Given the description of an element on the screen output the (x, y) to click on. 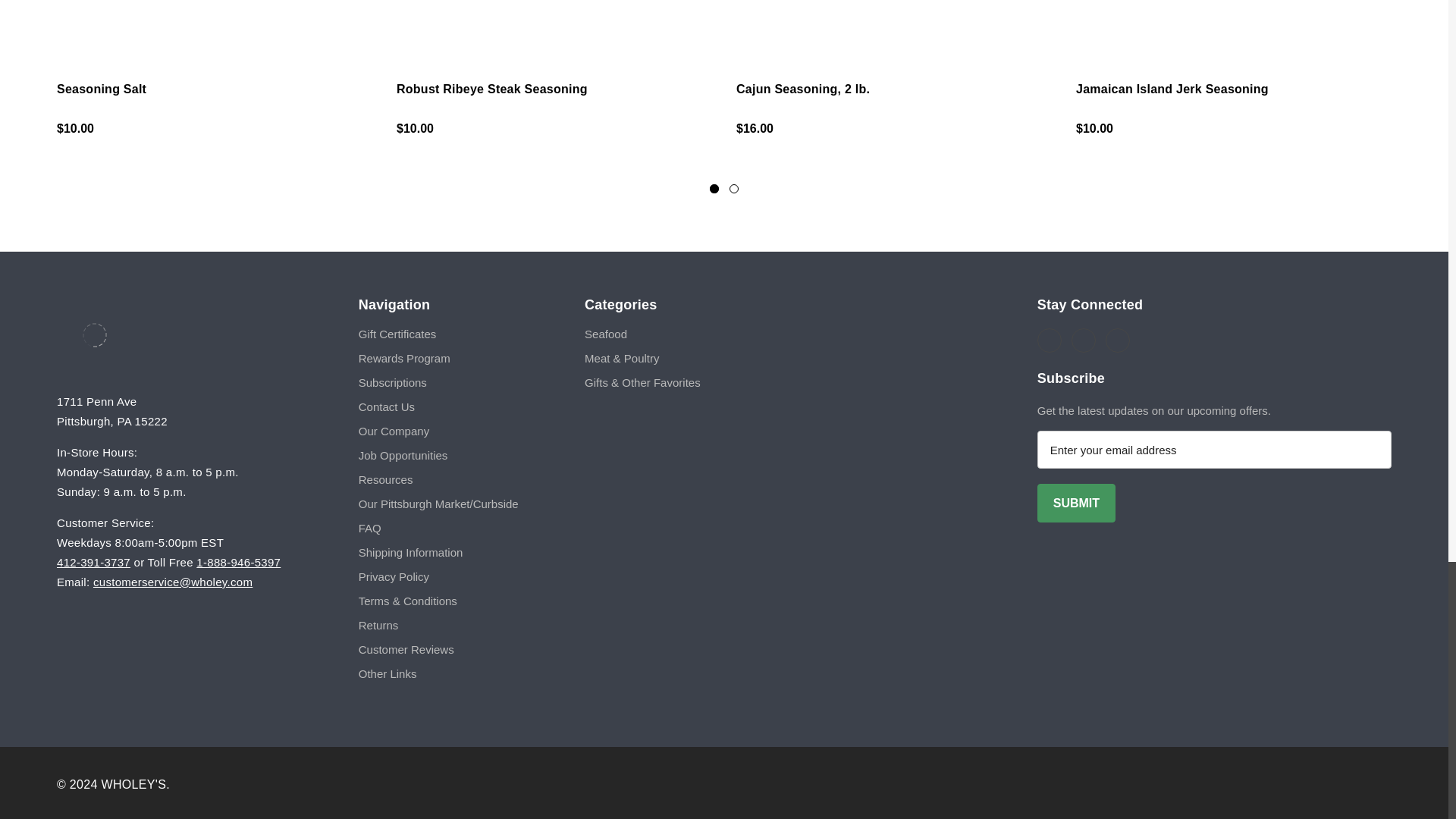
Mastercard Logo Logo (1254, 784)
Seasoning Salt (215, 31)
Visa Logo (1197, 784)
American Express Logo (1311, 784)
Wholey's Logo, "Image Coming Soon" (1234, 31)
Submit (1075, 503)
A bowl with Cajun seasoning (894, 31)
Discover Logo (1368, 784)
Robust Ribeye Steak Seasoning Wholey's (554, 31)
